Given the description of an element on the screen output the (x, y) to click on. 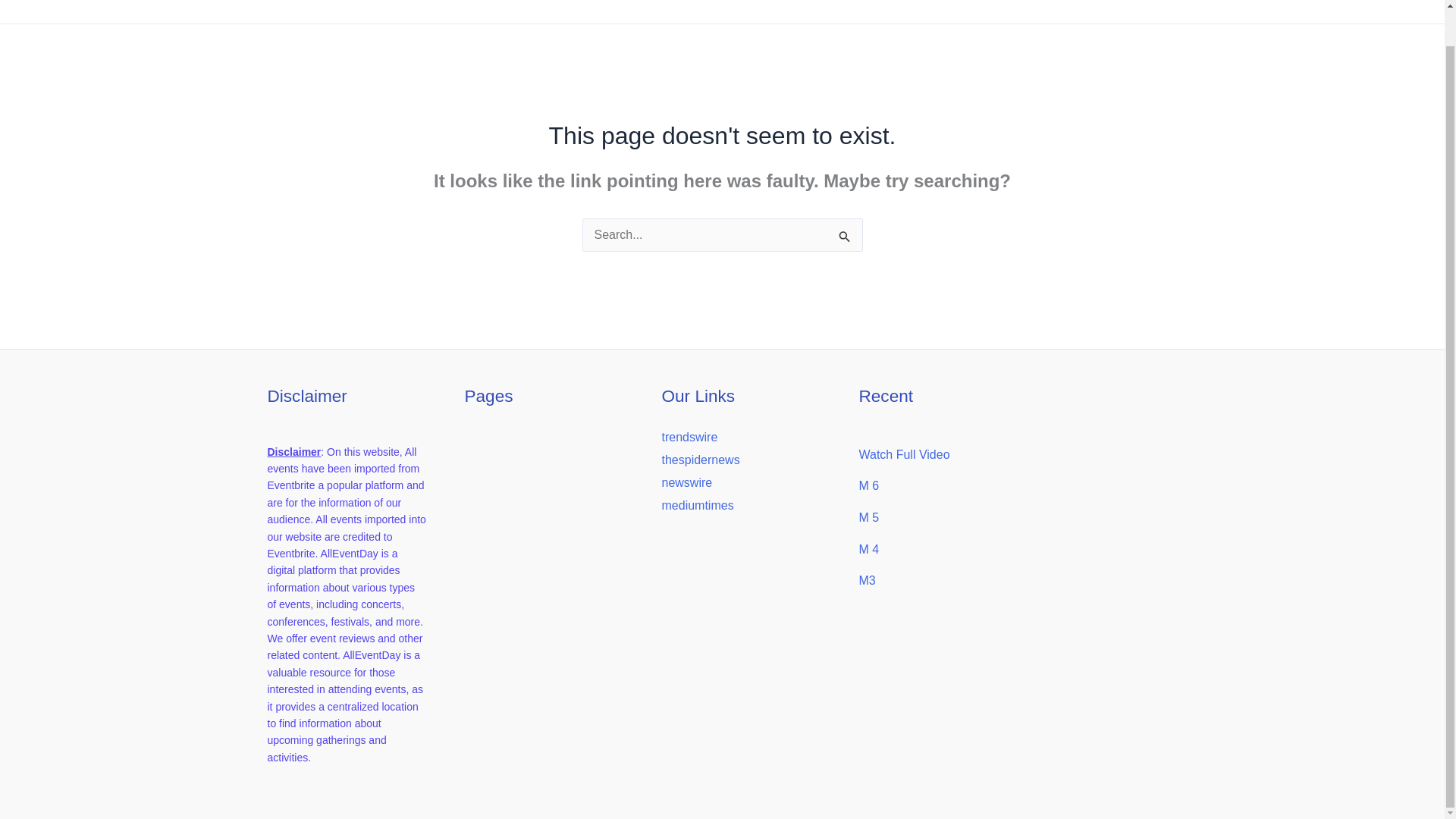
thespidernews (700, 459)
mediumtimes (697, 504)
M 5 (869, 517)
M 6 (869, 485)
trendswire (689, 436)
Blog (1404, 11)
Watch Full Video (904, 454)
M3 (867, 580)
newswire (686, 481)
Home (1351, 11)
M 4 (869, 549)
